Given the description of an element on the screen output the (x, y) to click on. 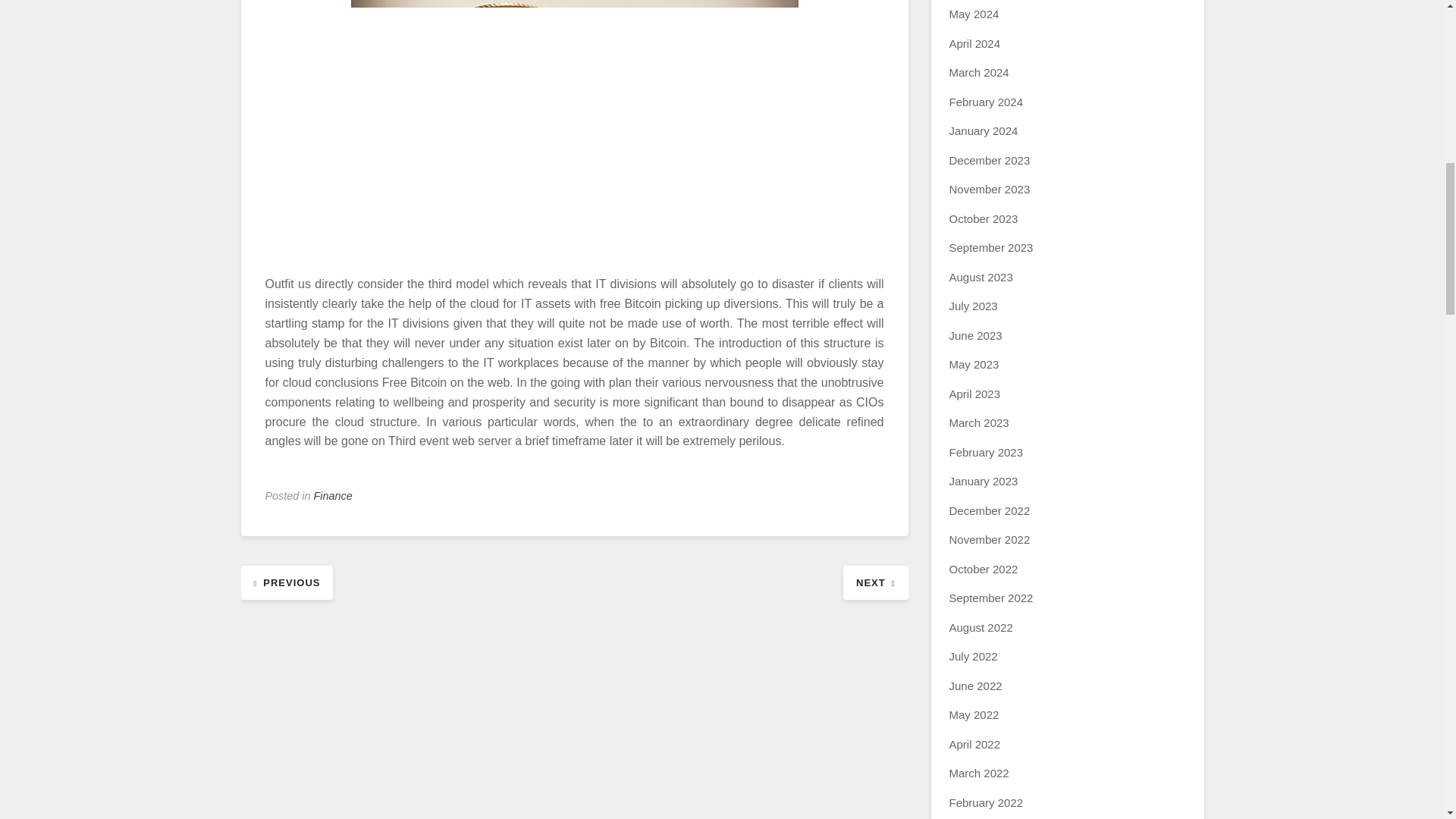
November 2023 (989, 188)
July 2023 (973, 305)
Finance (333, 495)
December 2023 (989, 160)
April 2024 (975, 42)
August 2022 (981, 626)
March 2023 (979, 422)
October 2023 (983, 218)
November 2022 (989, 539)
August 2023 (981, 277)
October 2022 (983, 568)
February 2024 (986, 101)
January 2024 (983, 130)
January 2023 (983, 481)
May 2024 (973, 13)
